Given the description of an element on the screen output the (x, y) to click on. 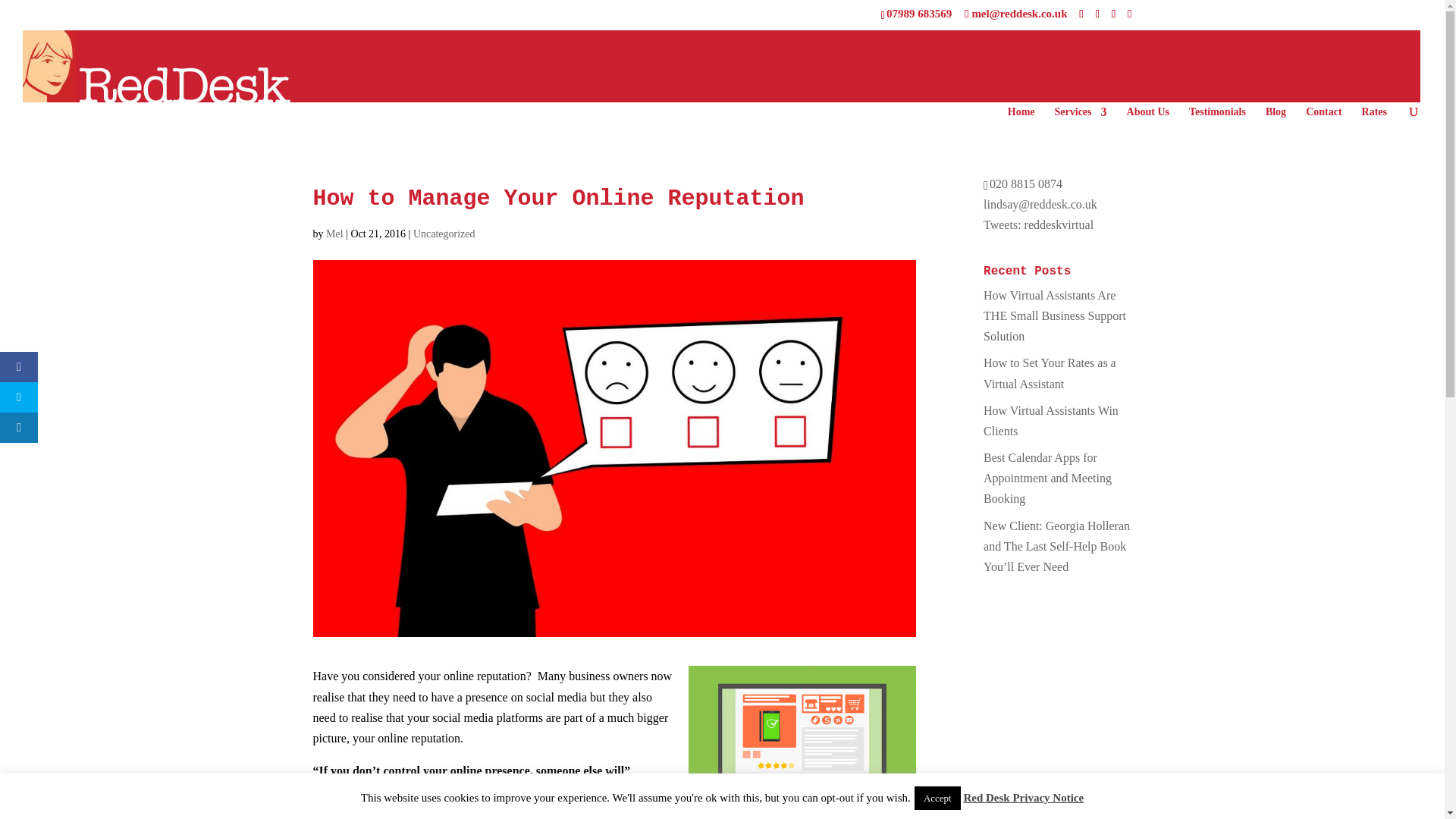
About Us (1147, 117)
Contact (1323, 117)
Rates (1374, 117)
Posts by Mel (334, 233)
Services (1080, 117)
07989 683569 (919, 13)
Testimonials (1217, 117)
Home (1021, 117)
